Given the description of an element on the screen output the (x, y) to click on. 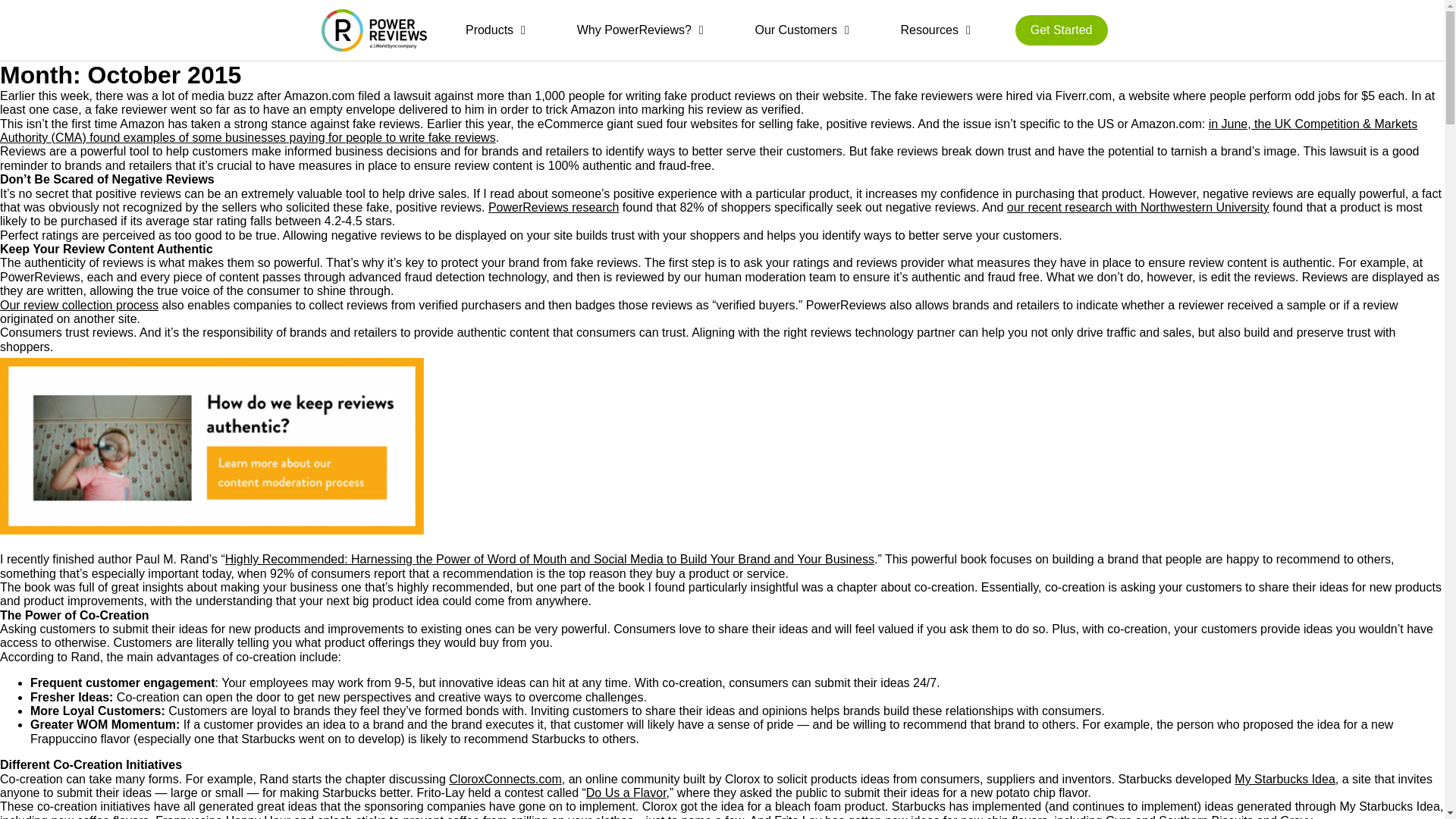
Why PowerReviews? (640, 30)
Resources (934, 30)
Our Customers (802, 30)
Products (495, 30)
